Given the description of an element on the screen output the (x, y) to click on. 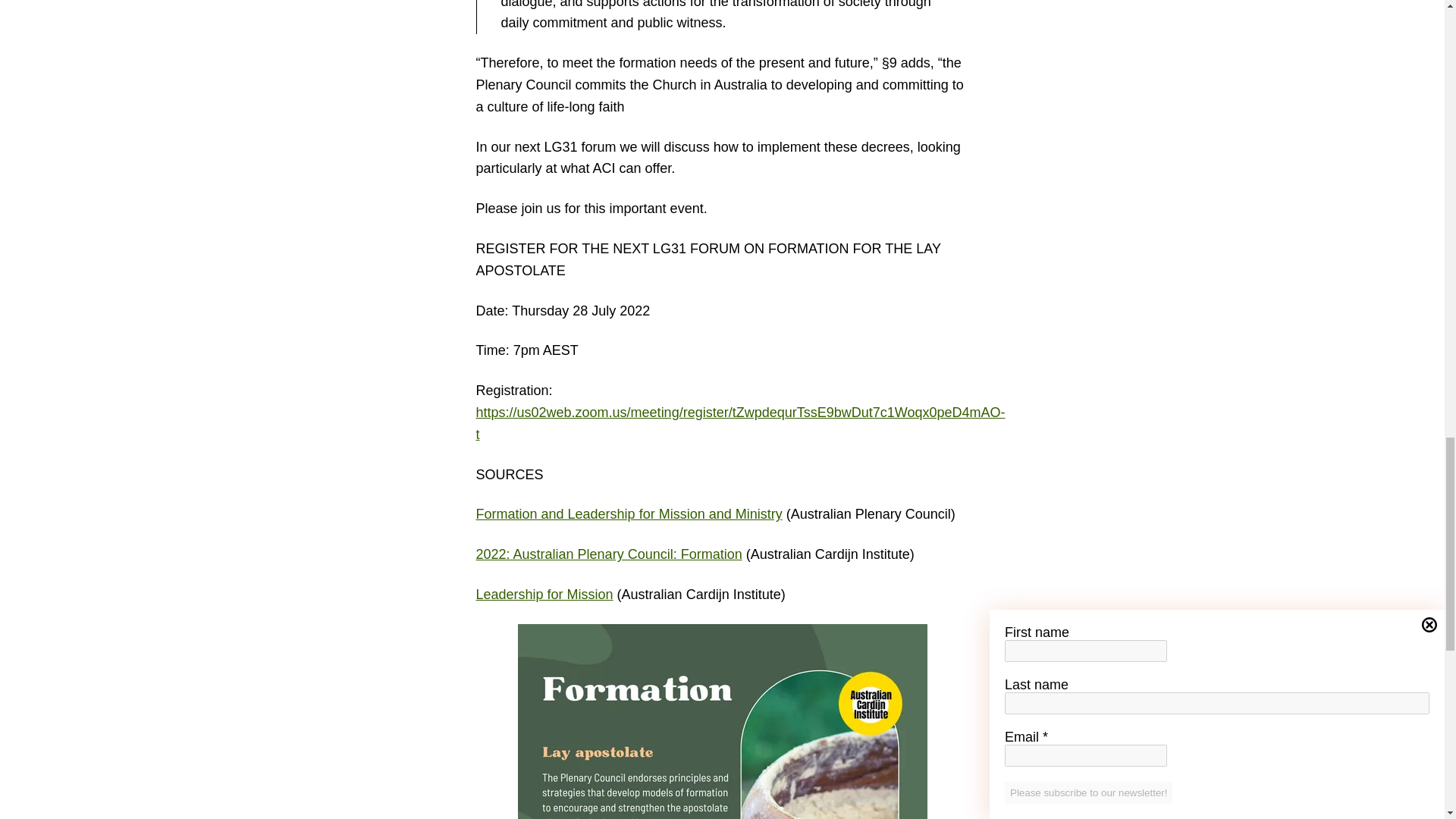
Formation and Leadership for Mission and Ministry (629, 513)
Leadership for Mission (544, 594)
2022: Australian Plenary Council: Formation (609, 554)
